Given the description of an element on the screen output the (x, y) to click on. 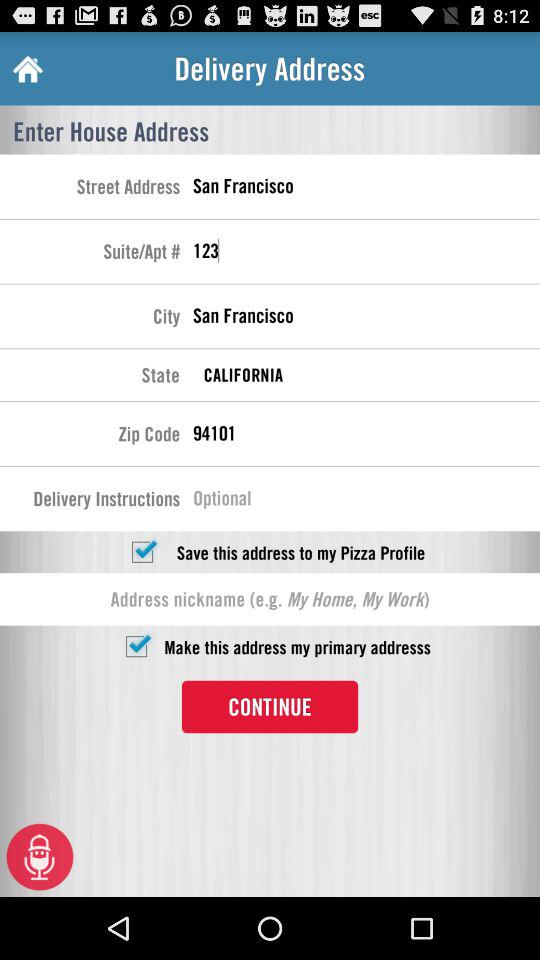
toggle primary address (136, 646)
